Given the description of an element on the screen output the (x, y) to click on. 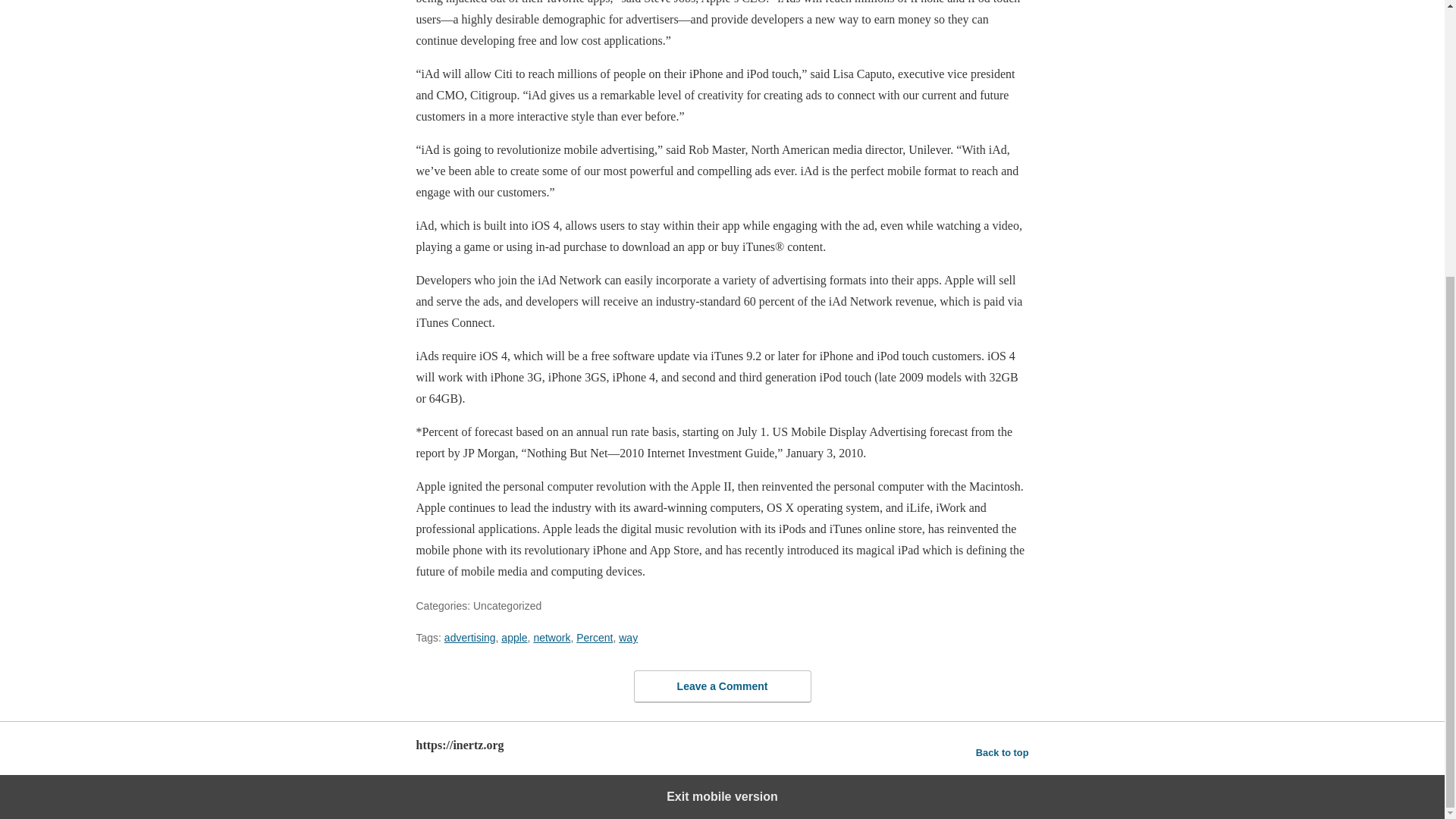
advertising (470, 637)
Leave a Comment (721, 686)
network (551, 637)
apple (513, 637)
Back to top (1002, 752)
Percent (594, 637)
way (627, 637)
